Given the description of an element on the screen output the (x, y) to click on. 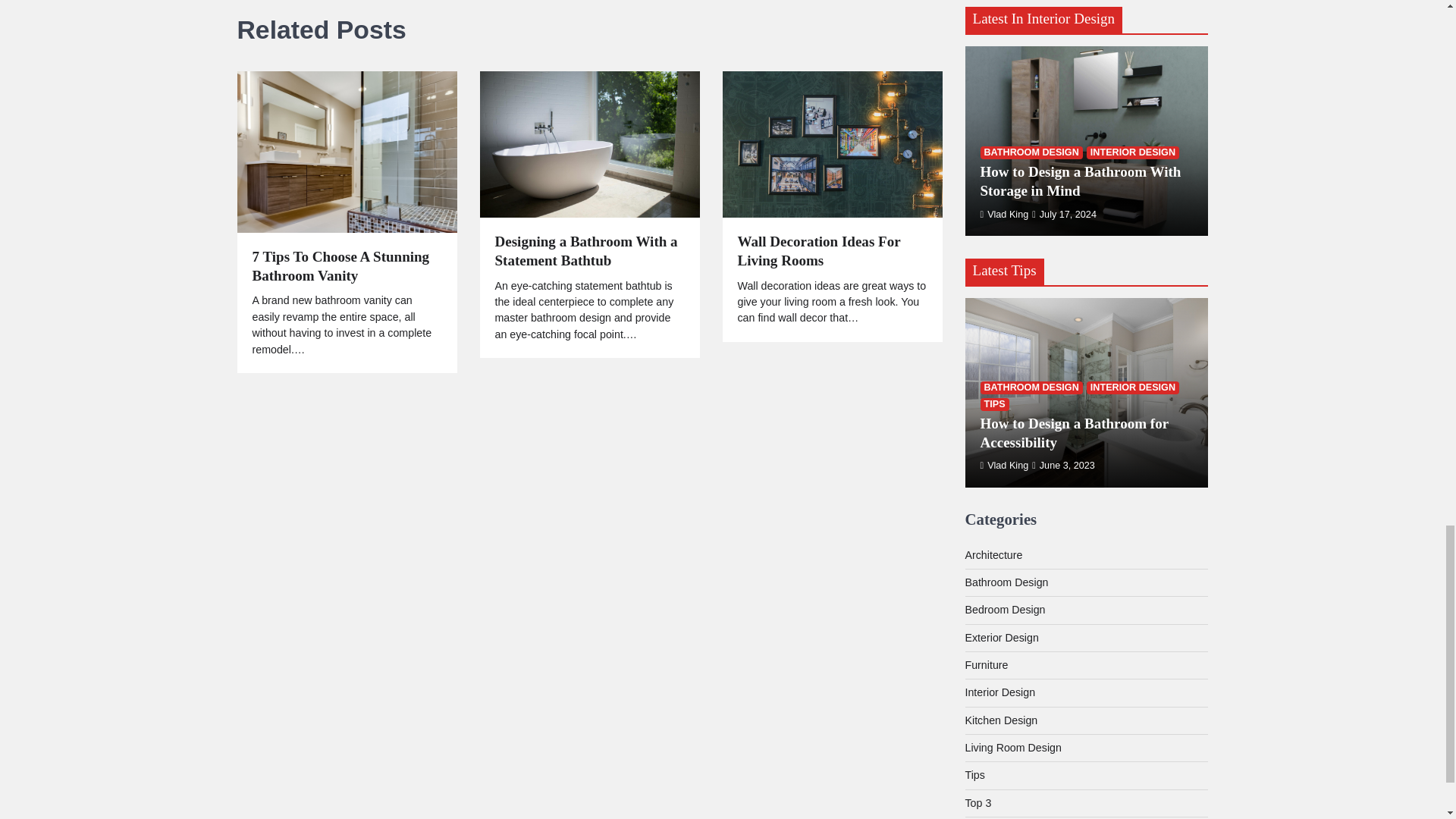
Designing a Bathroom With a Statement Bathtub (589, 251)
Wall Decoration Ideas For Living Rooms (831, 251)
7 Tips To Choose A Stunning Bathroom Vanity (346, 266)
